Given the description of an element on the screen output the (x, y) to click on. 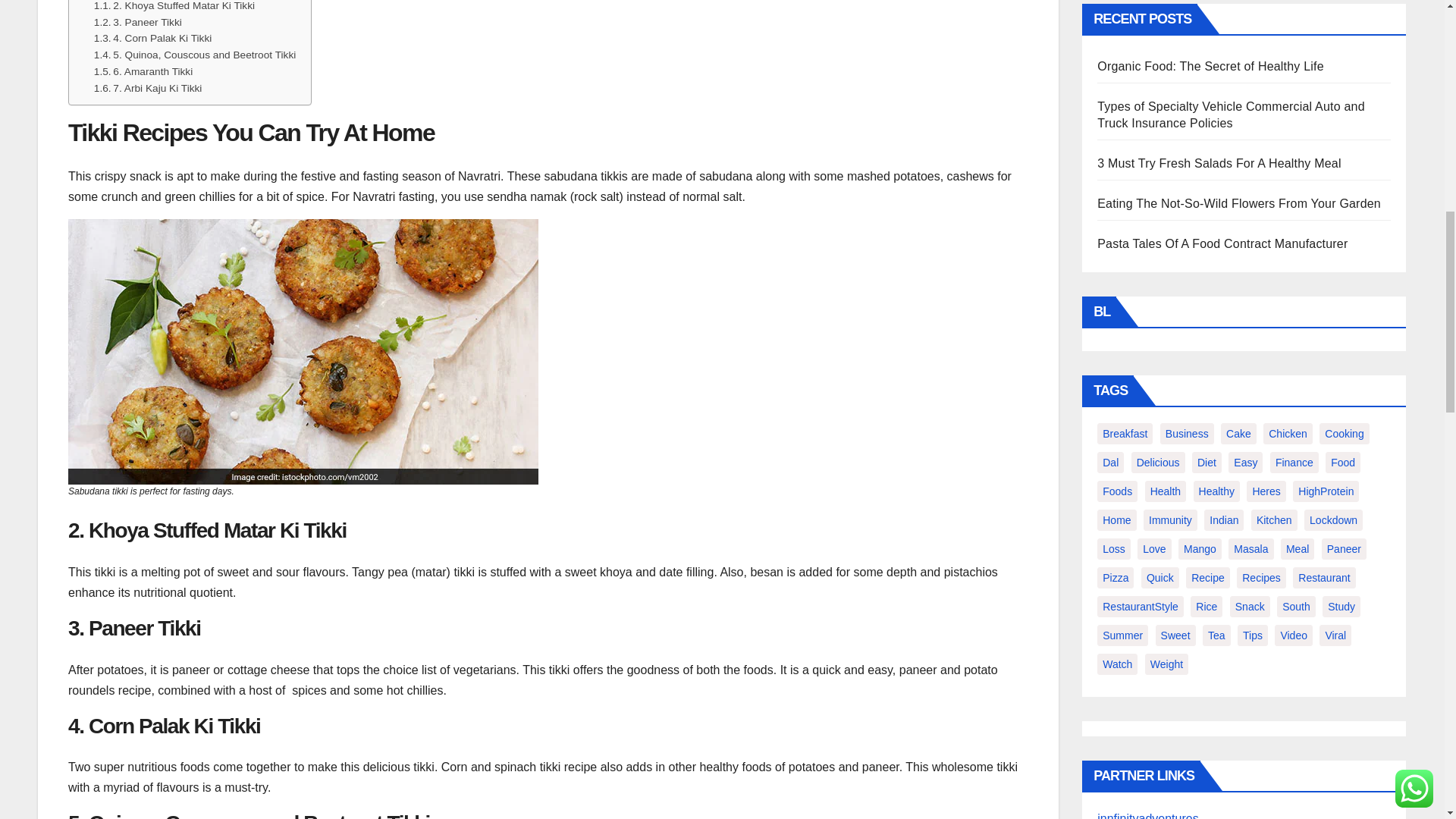
3. Paneer Tikki (138, 22)
2. Khoya Stuffed Matar Ki Tikki (174, 7)
4. Corn Palak Ki Tikki (153, 38)
3. Paneer Tikki (138, 22)
2. Khoya Stuffed Matar Ki Tikki (174, 7)
5. Quinoa, Couscous and Beetroot Tikki (194, 54)
